Given the description of an element on the screen output the (x, y) to click on. 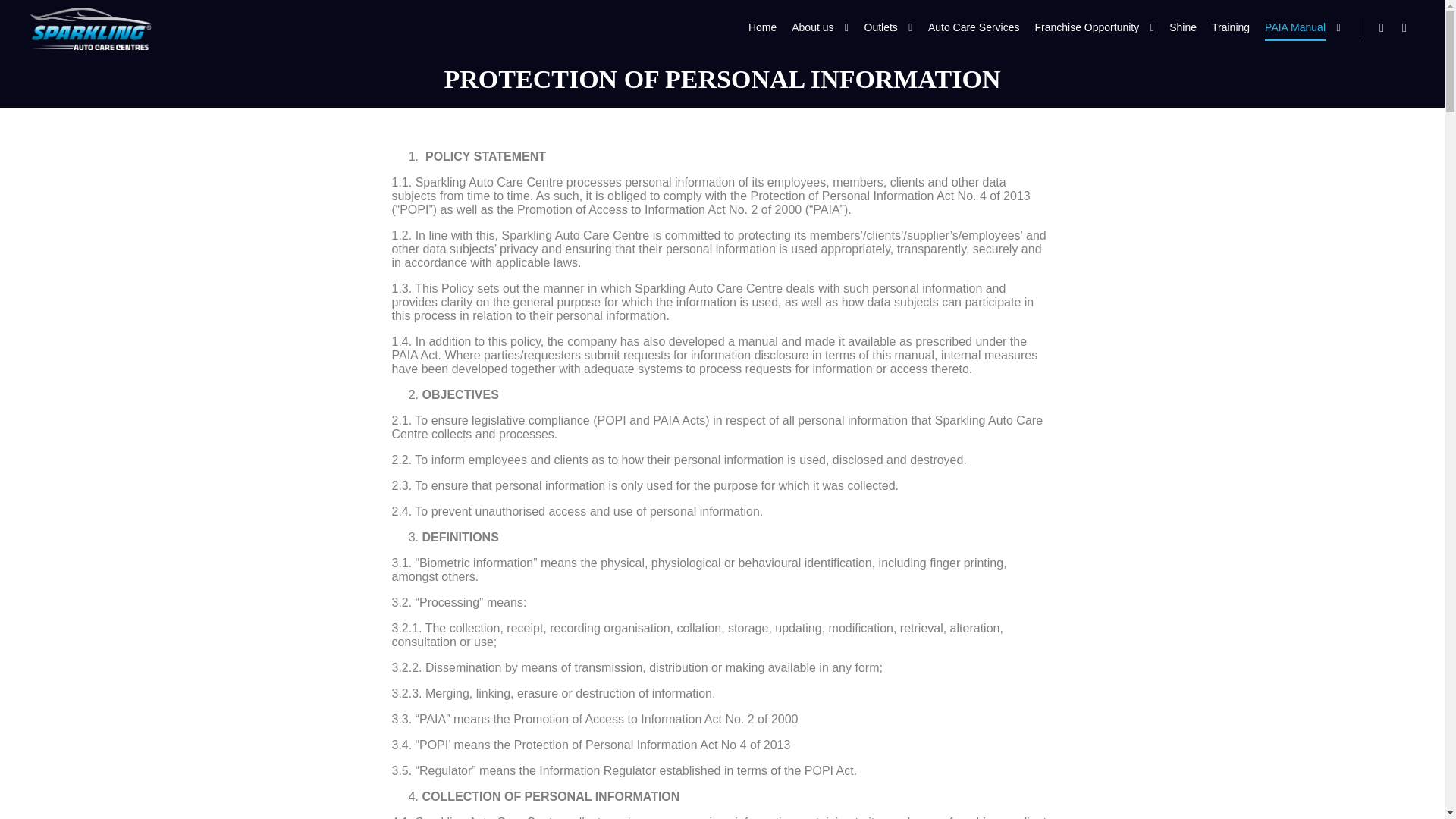
Auto Care Services (973, 27)
Sparkling Auto Care Centres (90, 28)
Franchise Opportunity (1083, 27)
About us (809, 27)
Facebook (1381, 27)
PAIA Manual (1292, 27)
Training (1230, 27)
Instagram (1403, 27)
